Given the description of an element on the screen output the (x, y) to click on. 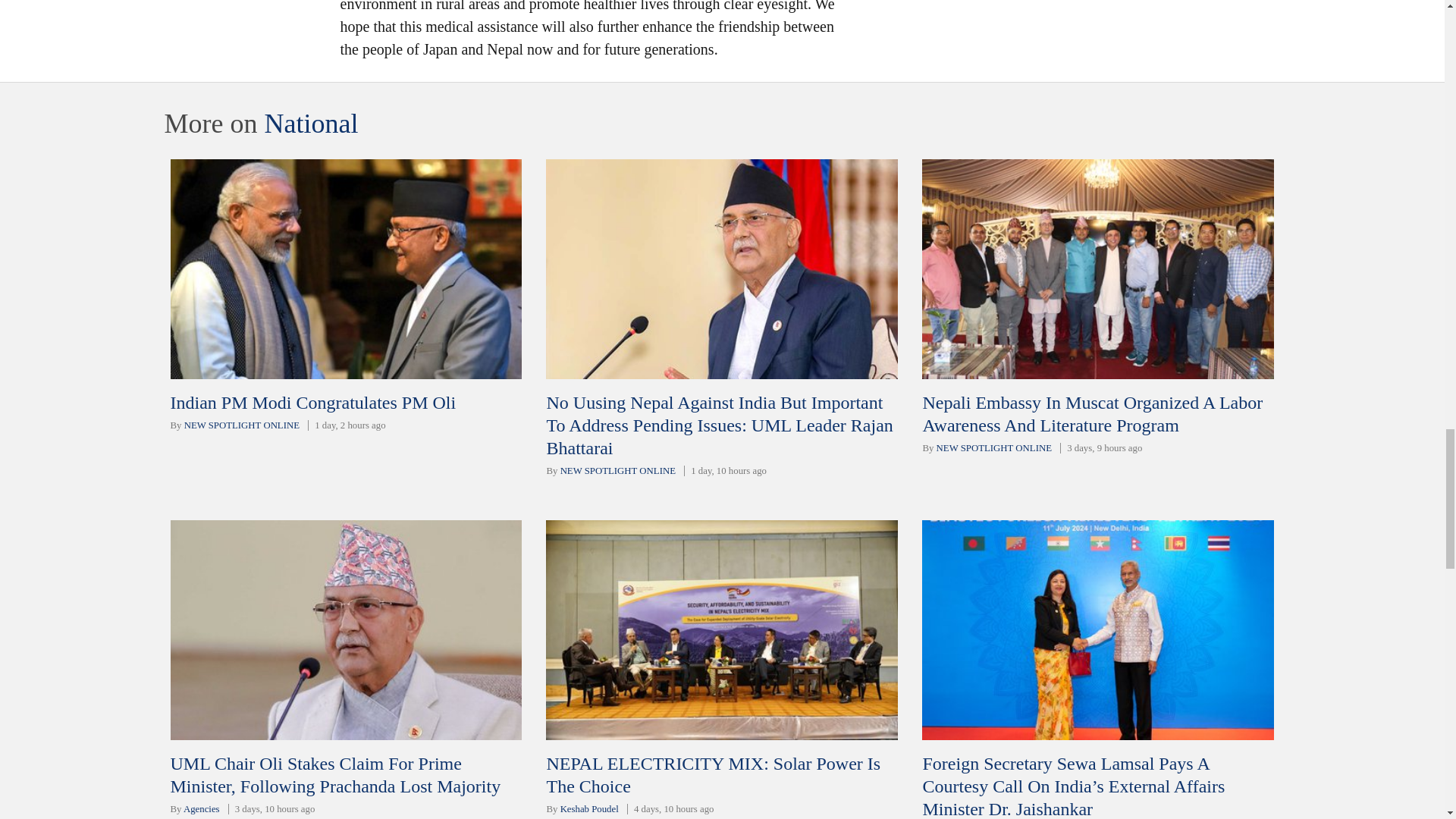
NEW SPOTLIGHT ONLINE (993, 448)
Keshab Poudel (589, 808)
National (310, 123)
Indian PM Modi Congratulates PM Oli (312, 402)
NEW SPOTLIGHT ONLINE (241, 425)
NEW SPOTLIGHT ONLINE (617, 470)
NEPAL ELECTRICITY MIX: Solar Power Is The Choice (713, 774)
Agencies (201, 808)
